Given the description of an element on the screen output the (x, y) to click on. 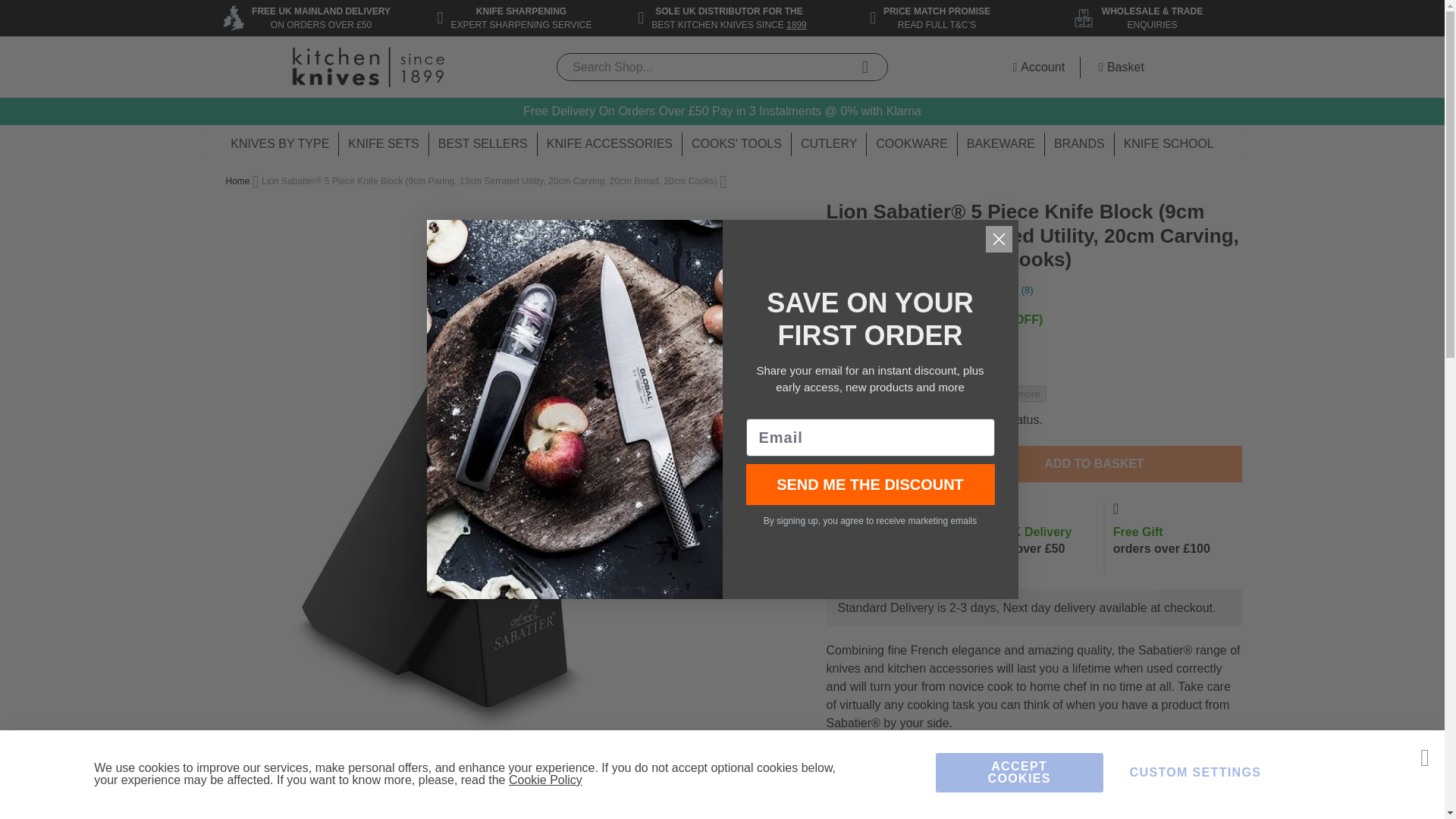
Professional Kitchen Knives at the UK's Best Prices (368, 66)
SEARCH (864, 68)
KNIVES BY TYPE (279, 144)
1 (881, 463)
Search (864, 68)
Professional Kitchen Knives at the UK's Best Prices (367, 67)
Basket (1119, 67)
Account (1036, 67)
